Given the description of an element on the screen output the (x, y) to click on. 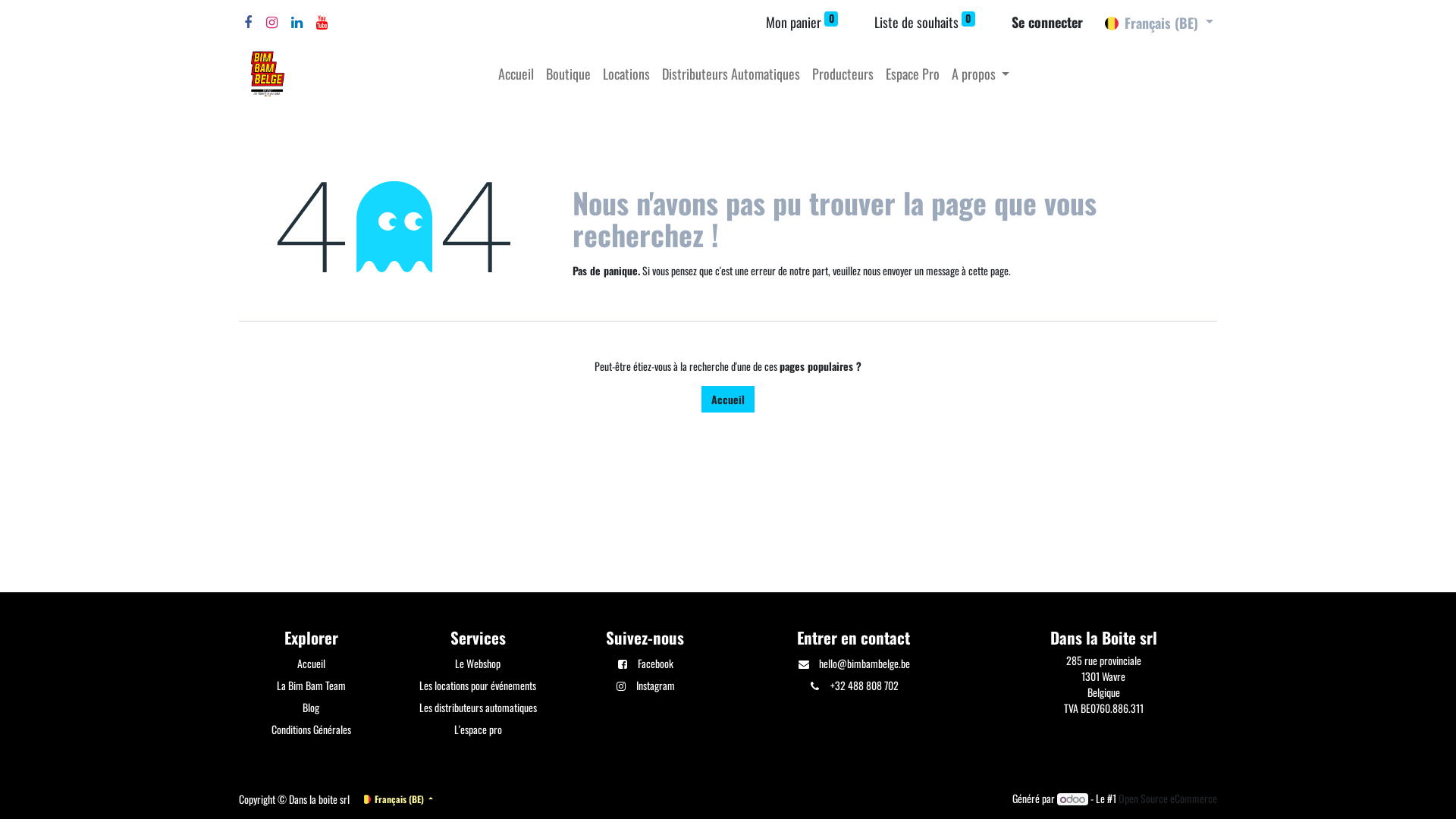
Producteurs Element type: text (842, 73)
Accueil Element type: text (515, 73)
+32 488 808 702 Element type: text (863, 685)
Blog Element type: text (310, 707)
Boutique Element type: text (567, 73)
Se connecter Element type: text (1047, 22)
Locations Element type: text (625, 73)
Instagram Element type: text (655, 685)
Espace Pro Element type: text (912, 73)
Le Webshop Element type: text (477, 663)
Bim Bam Belge Element type: hover (267, 73)
La Bim Bam Team Element type: text (310, 685)
Les distributeurs automatiques Element type: text (477, 707)
Liste de souhaits 0 Element type: text (924, 22)
cette page Element type: text (988, 270)
A propos Element type: text (980, 73)
Distributeurs Automatiques Element type: text (730, 73)
L'espace pro Element type: text (477, 729)
Open Source eCommerce Element type: text (1167, 798)
Accueil Element type: text (727, 398)
Accueil Element type: text (311, 663)
hello@bimbambelge.be Element type: text (864, 663)
Mon panier 0 Element type: text (801, 22)
Facebook Element type: text (655, 663)
